Given the description of an element on the screen output the (x, y) to click on. 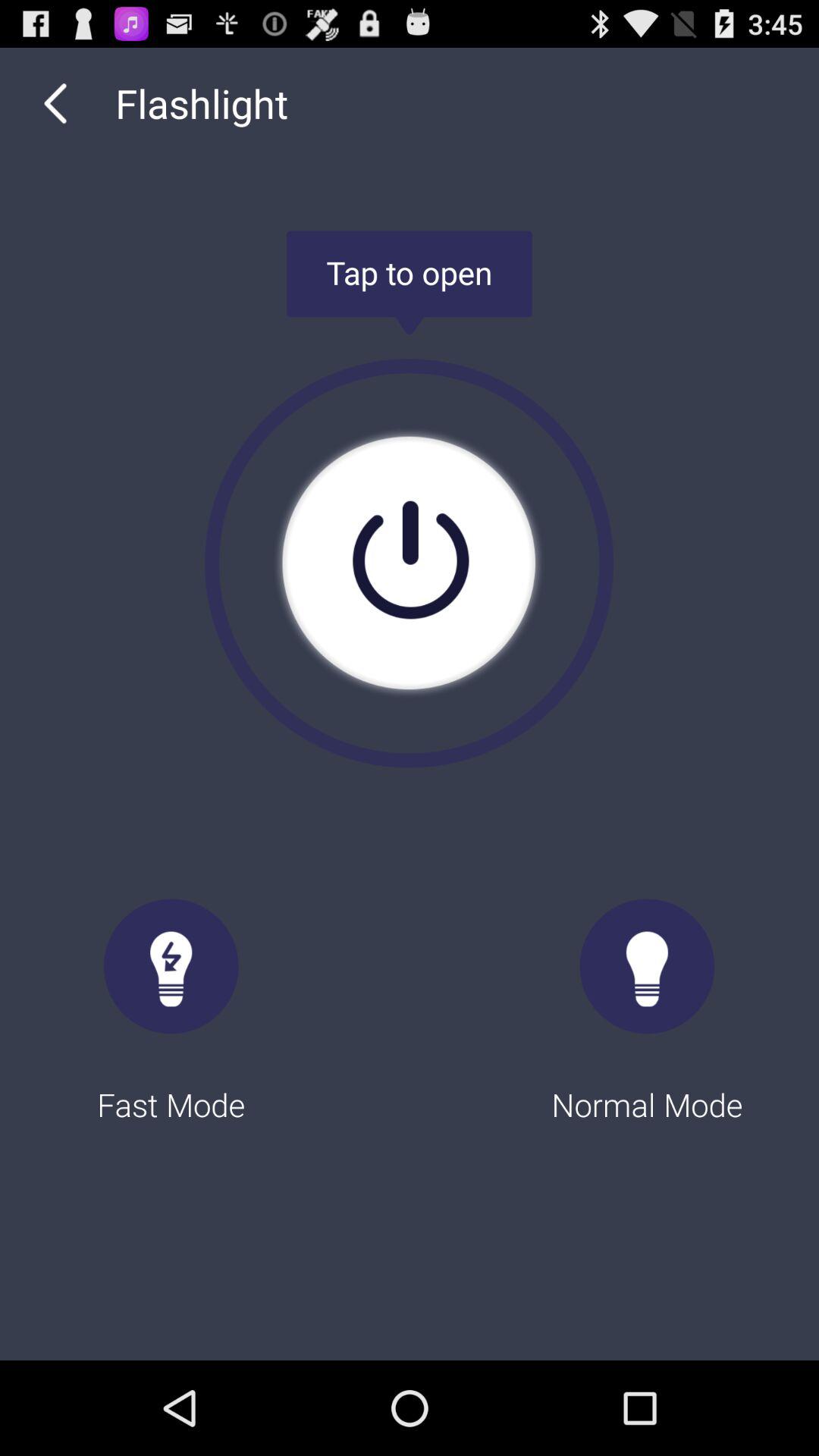
jump to the normal mode (647, 996)
